Given the description of an element on the screen output the (x, y) to click on. 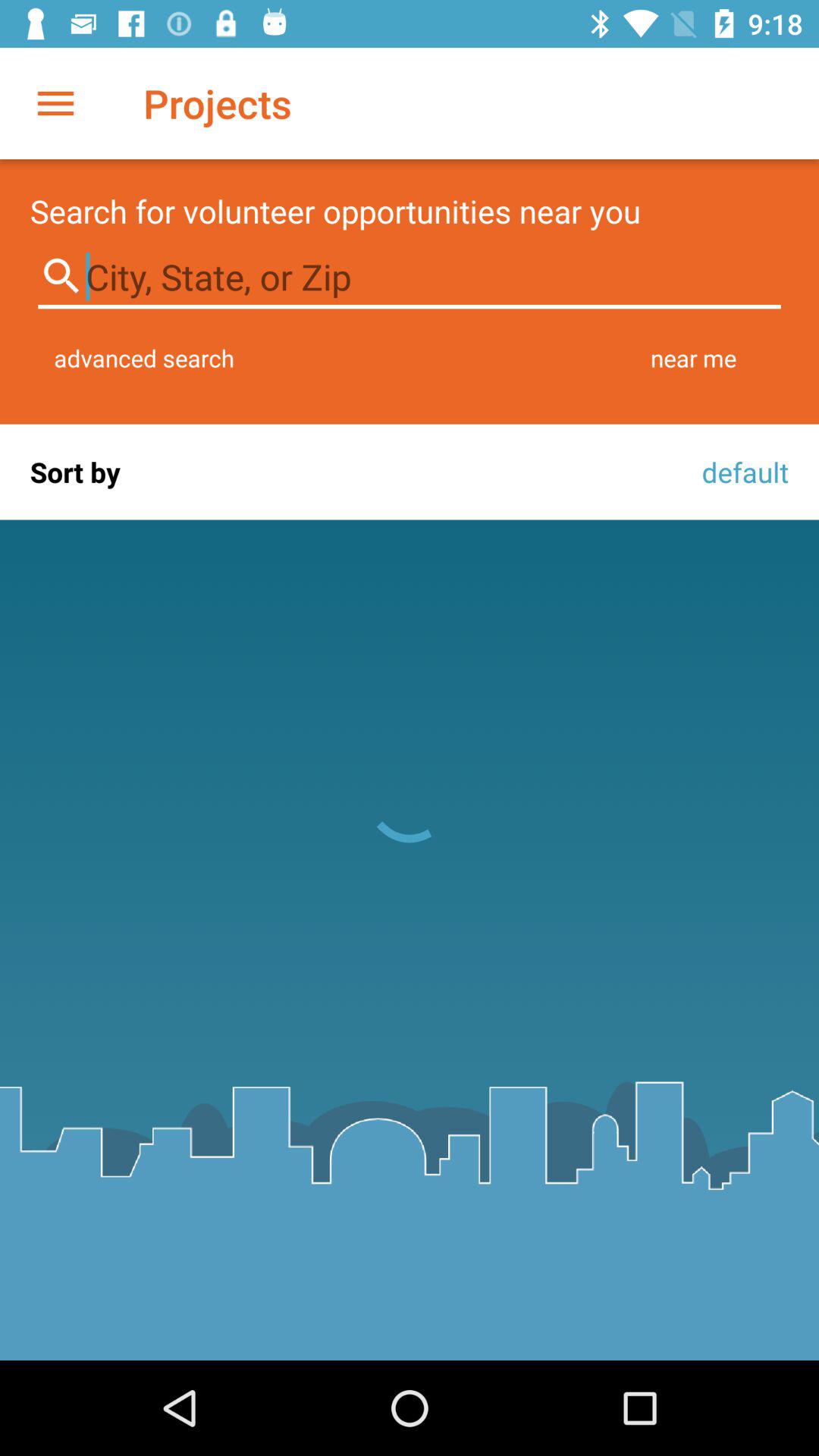
select the item next to the sort by (740, 471)
